Given the description of an element on the screen output the (x, y) to click on. 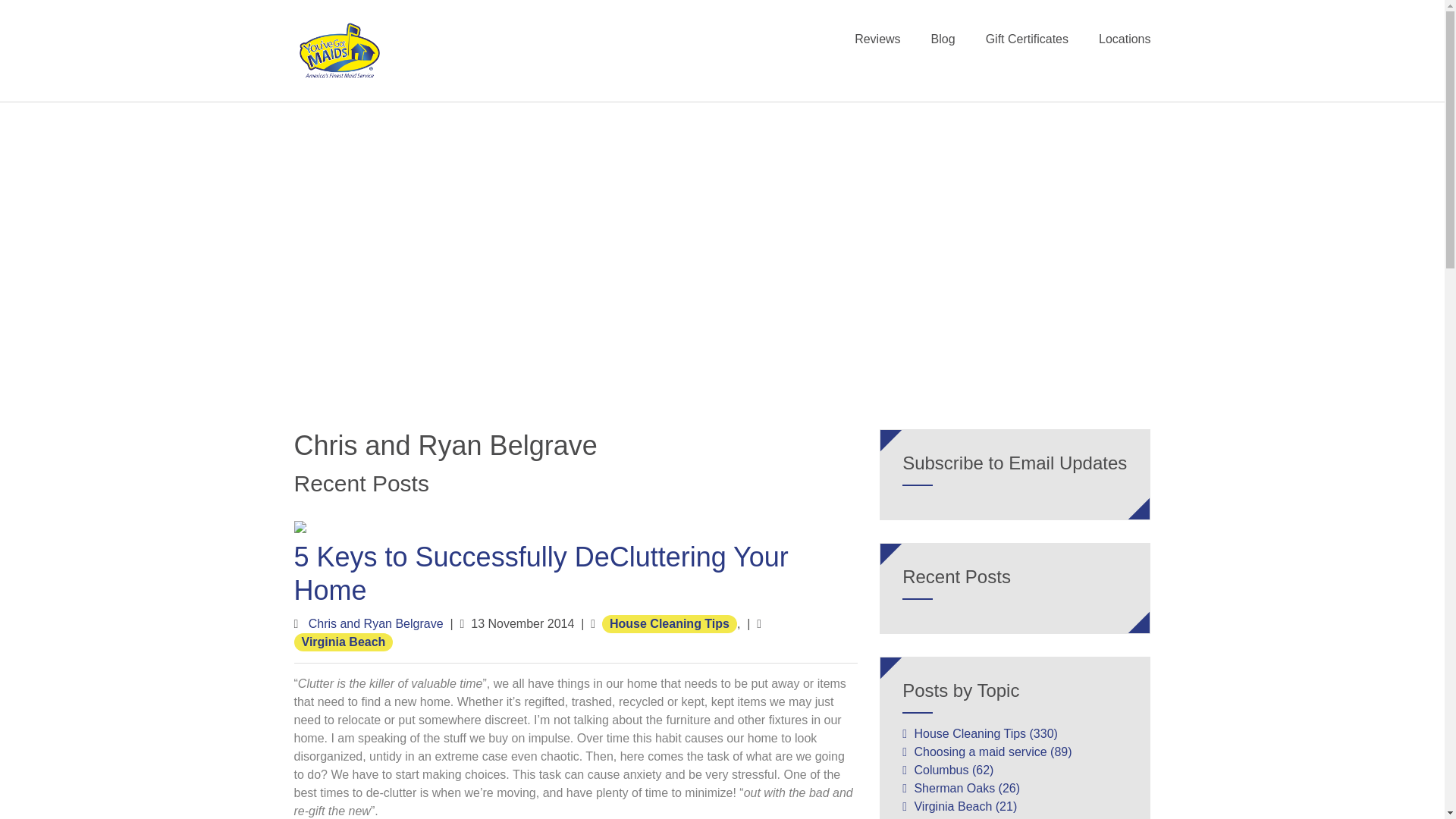
Gift Certificates (1027, 44)
Blog (943, 44)
Reviews (877, 44)
YouveGotMaids.png (339, 50)
Locations (1117, 44)
Chris and Ryan Belgrave (376, 623)
House Cleaning Tips (669, 623)
Virginia Beach (343, 641)
5 Keys to Successfully DeCluttering Your Home (541, 573)
